Given the description of an element on the screen output the (x, y) to click on. 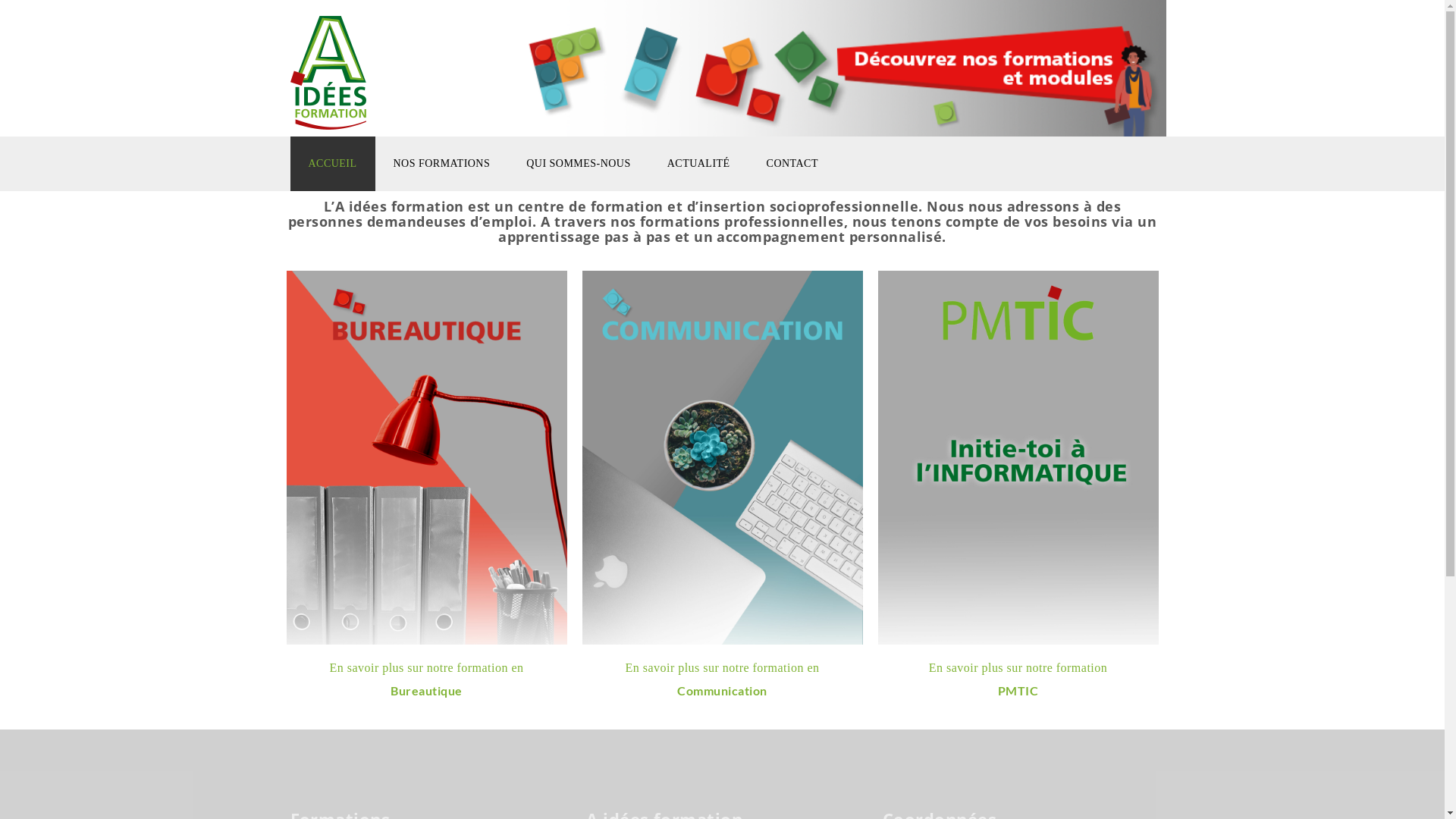
NOS FORMATIONS Element type: text (441, 163)
CONTACT Element type: text (792, 163)
En savoir plus sur notre formation
PMTIC Element type: text (1017, 679)
ACCUEIL Element type: text (331, 163)
QUI SOMMES-NOUS Element type: text (578, 163)
